Given the description of an element on the screen output the (x, y) to click on. 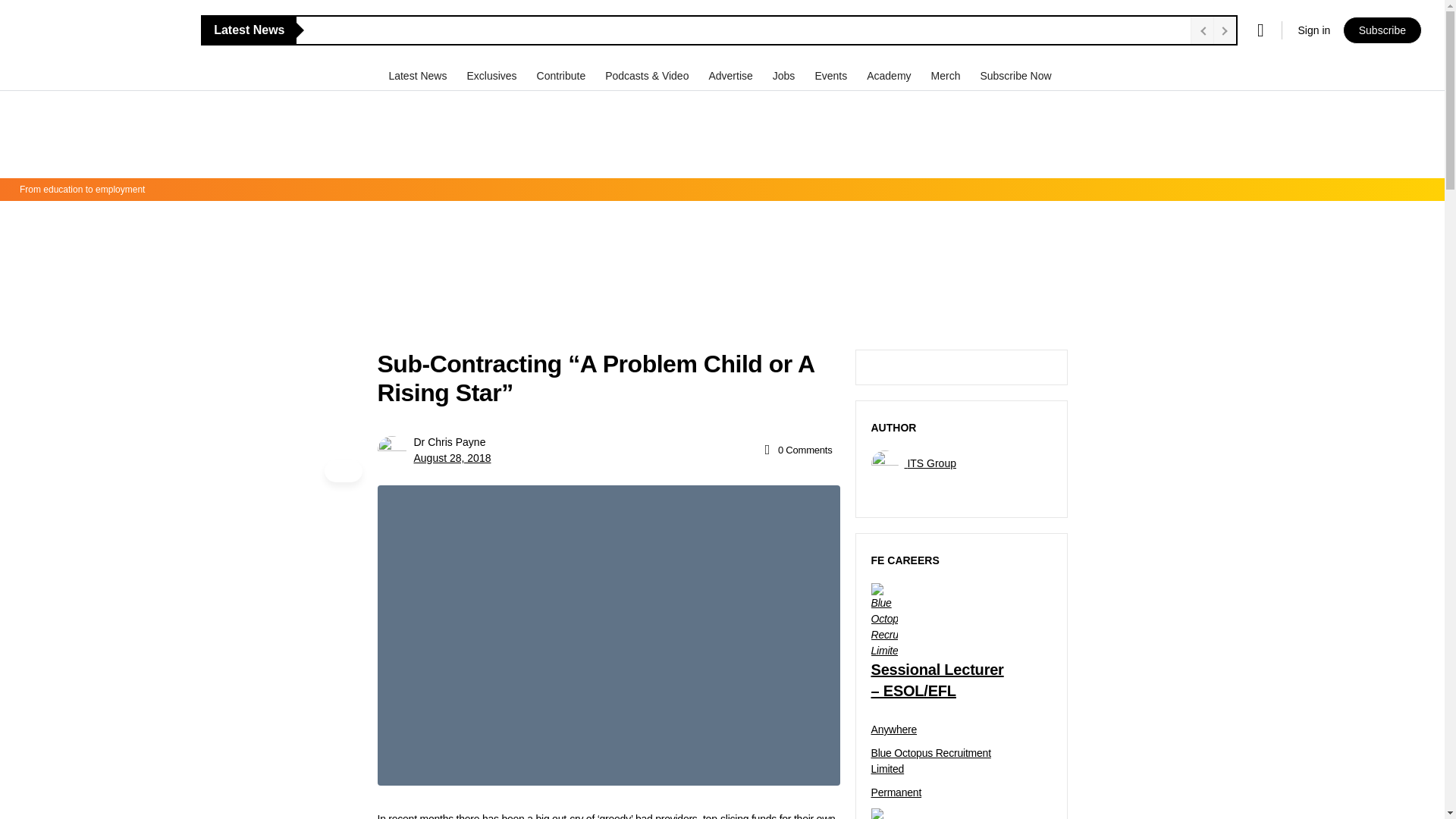
Latest News (419, 75)
Exclusives (493, 75)
Subscribe (1382, 30)
Sign in (1313, 30)
